Given the description of an element on the screen output the (x, y) to click on. 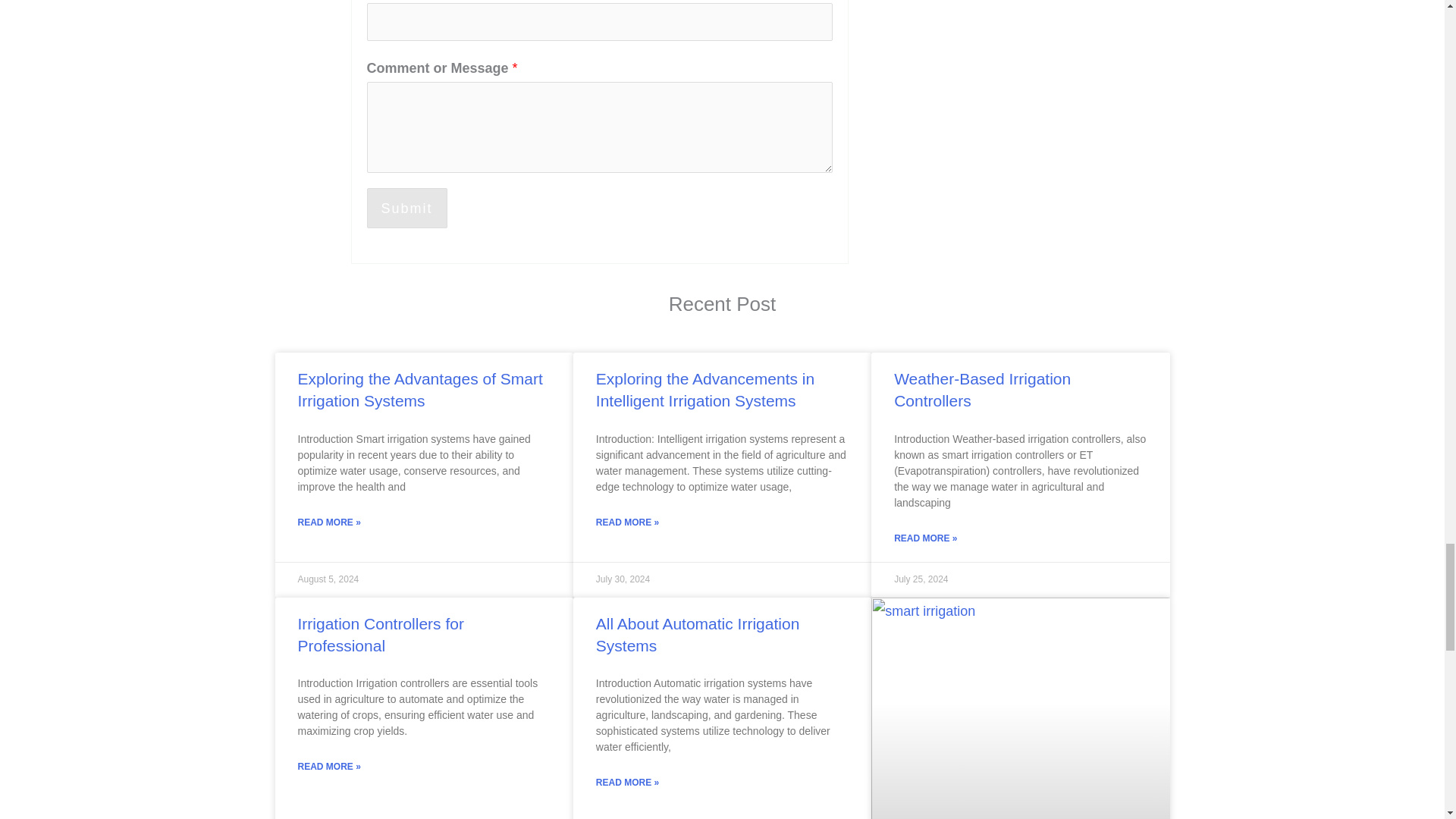
Weather-Based Irrigation Controllers (981, 389)
Submit (406, 208)
Exploring the Advancements in Intelligent Irrigation Systems (704, 389)
Exploring the Advantages of Smart Irrigation Systems (419, 389)
